Given the description of an element on the screen output the (x, y) to click on. 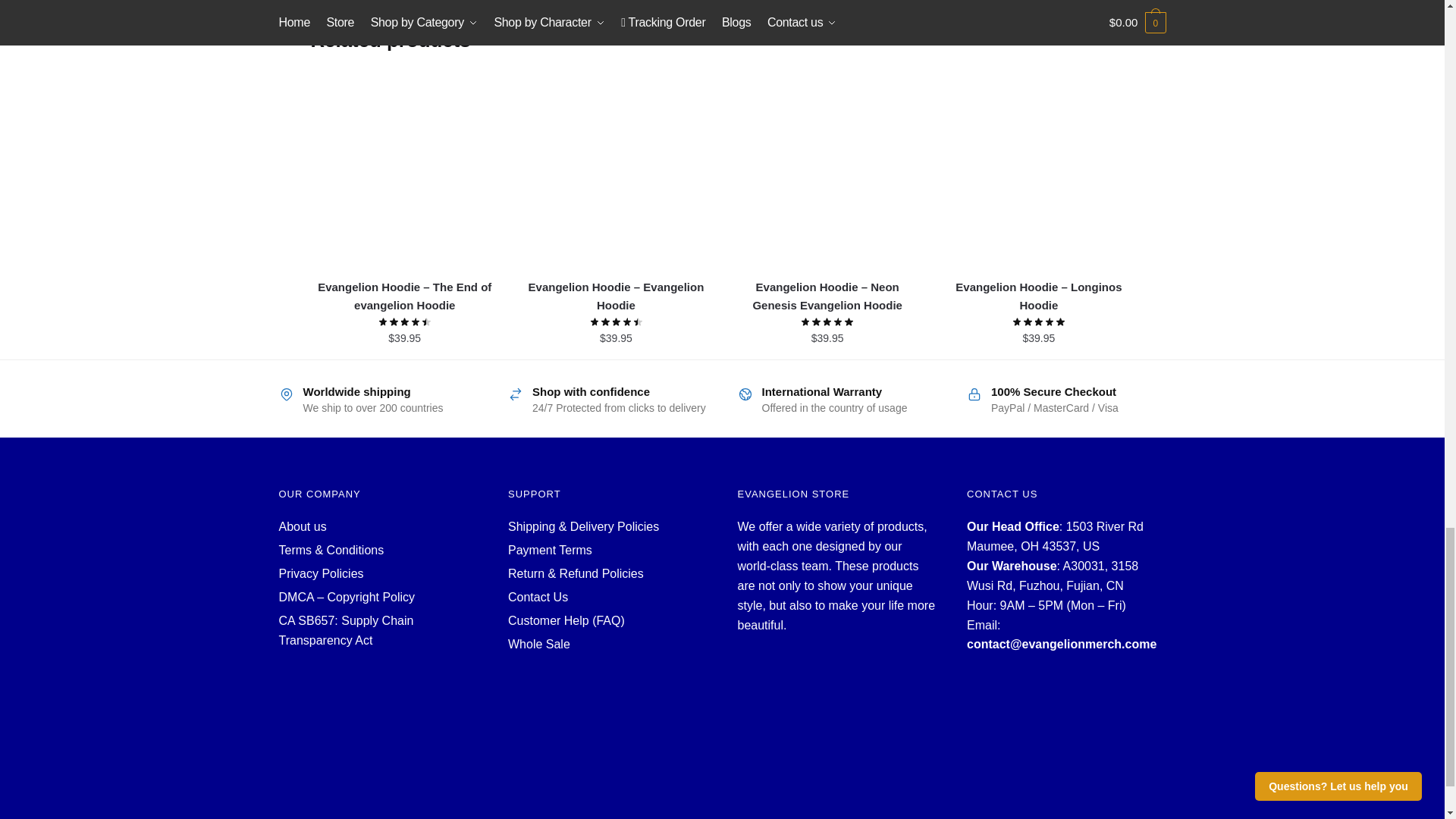
DMCA.com Protection Status (379, 710)
